Given the description of an element on the screen output the (x, y) to click on. 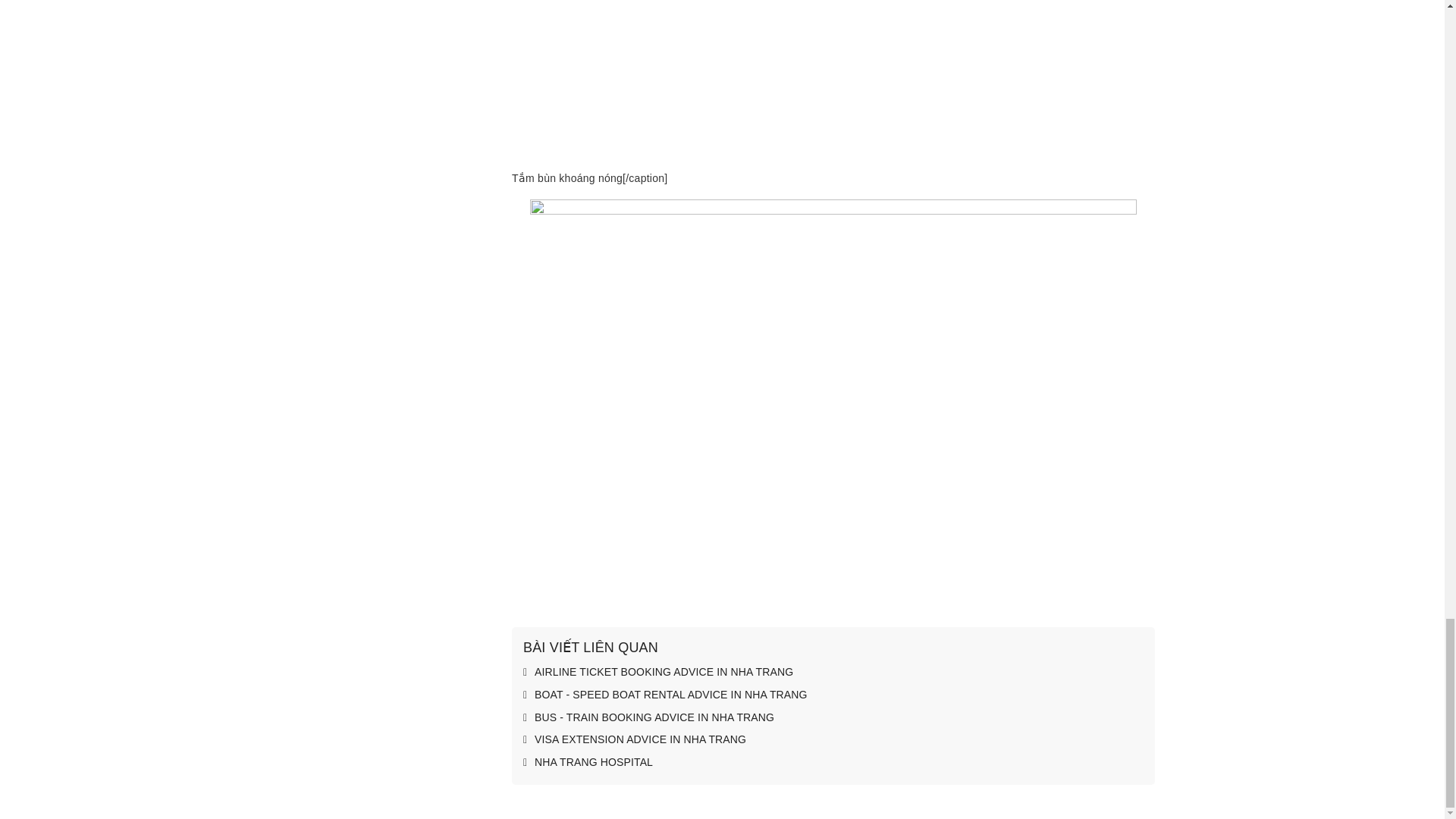
VISA EXTENSION ADVICE IN NHA TRANG (633, 739)
AIRLINE TICKET BOOKING ADVICE IN NHA TRANG (657, 672)
NHA TRANG HOSPITAL (587, 762)
BOAT - SPEED BOAT RENTAL ADVICE IN NHA TRANG (665, 694)
NHA TRANG HOSPITAL (587, 762)
BUS - TRAIN BOOKING ADVICE IN NHA TRANG (648, 717)
AIRLINE TICKET BOOKING ADVICE IN NHA TRANG (657, 672)
BUS - TRAIN BOOKING ADVICE IN NHA TRANG (648, 717)
BOAT - SPEED BOAT RENTAL ADVICE IN NHA TRANG (665, 694)
VISA EXTENSION ADVICE IN NHA TRANG (633, 739)
